Given the description of an element on the screen output the (x, y) to click on. 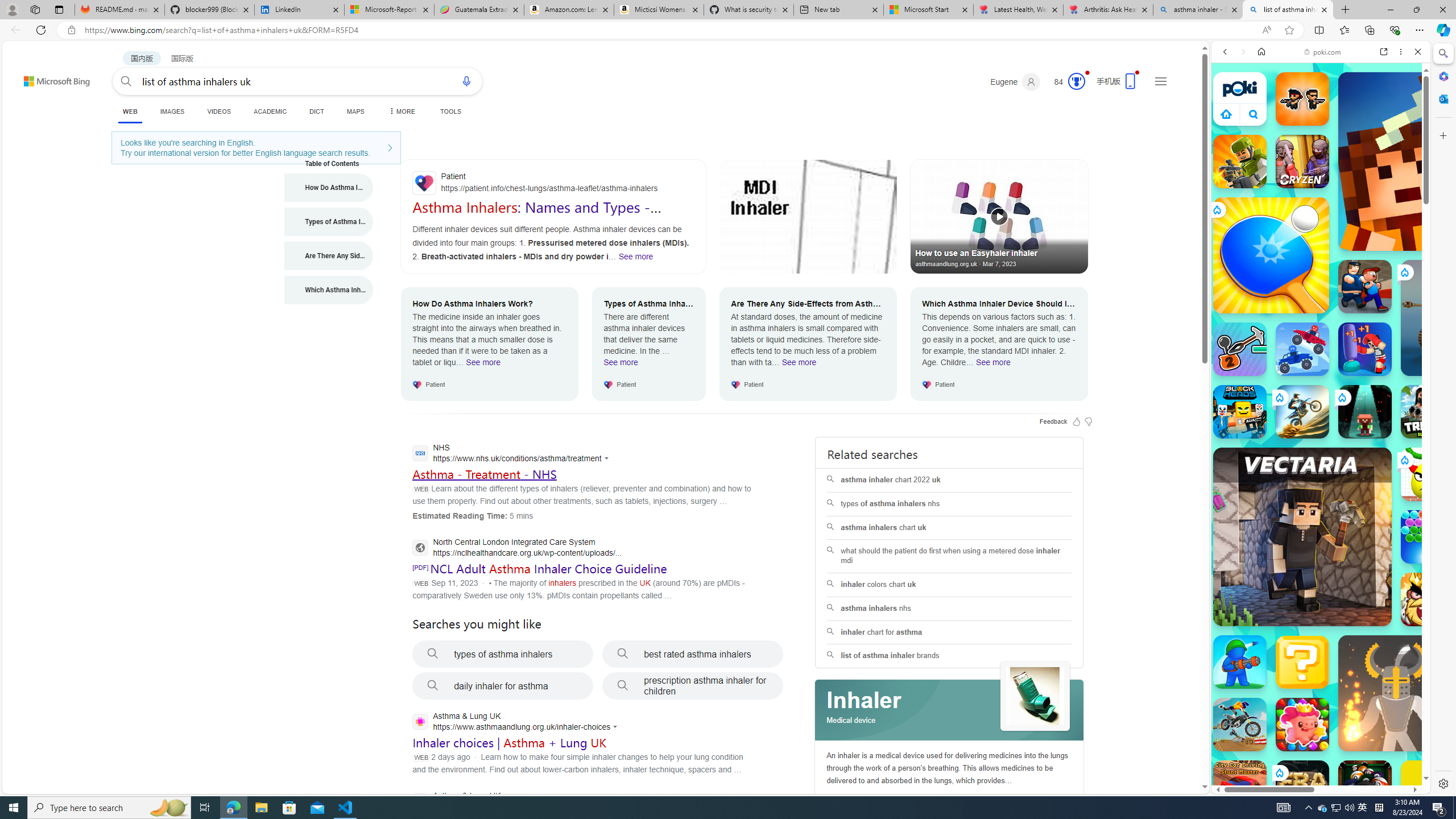
Zombie Rush Zombie Rush (1302, 98)
Quivershot (1364, 411)
daily inhaler for asthma (503, 685)
Hills of Steel (1253, 574)
Vectaria.io (1301, 536)
IMAGES (172, 111)
Show More Two Player Games (1390, 323)
Back to Bing search (50, 78)
types of asthma inhalers nhs (949, 503)
Stunt Bike Extreme (1302, 411)
TOOLS (450, 111)
asthma inhalers nhs (949, 608)
Punch Legend Simulator Punch Legend Simulator (1364, 348)
